Given the description of an element on the screen output the (x, y) to click on. 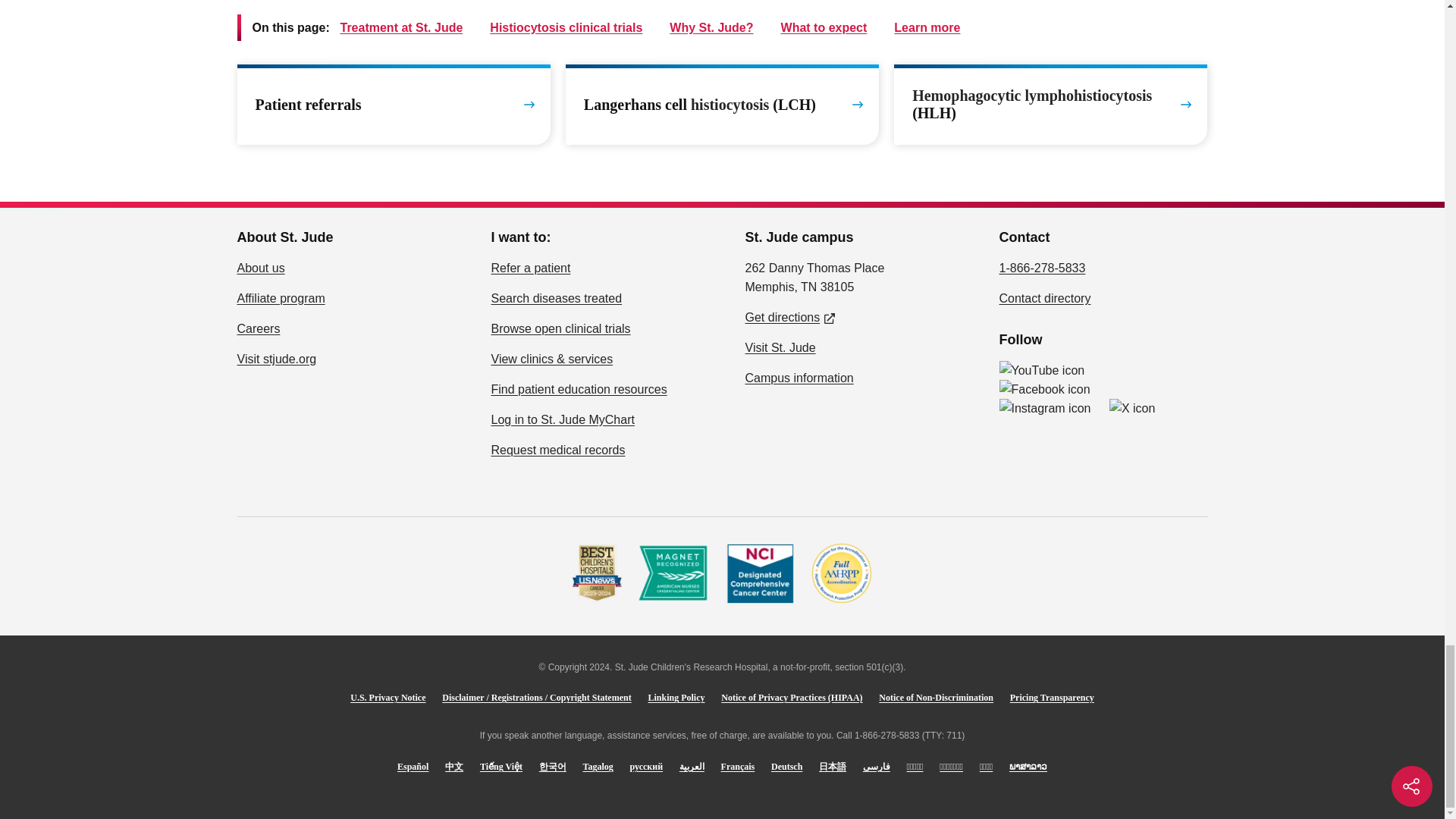
Patient referrals (392, 104)
Learn more (542, 17)
